Given the description of an element on the screen output the (x, y) to click on. 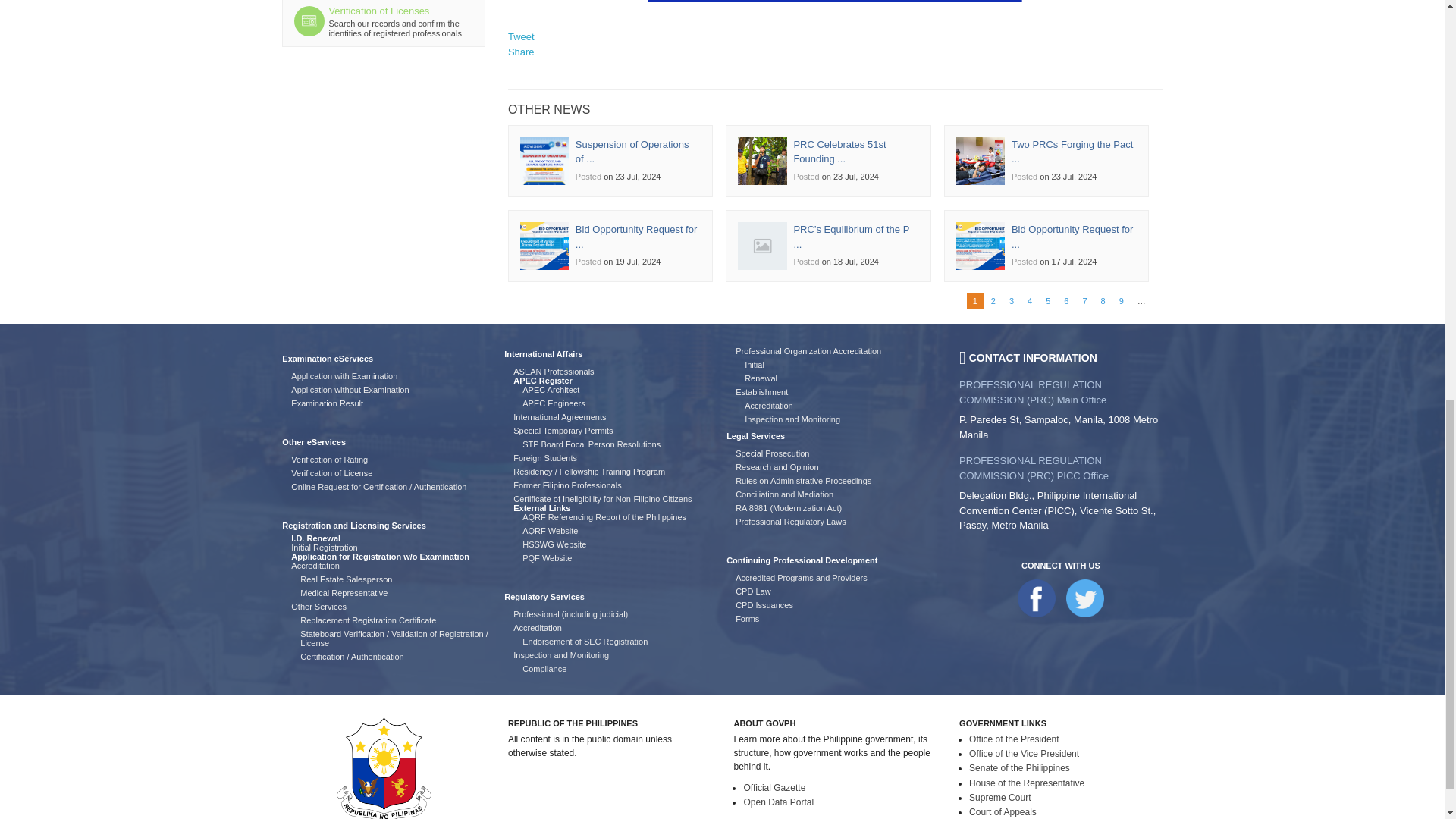
Go to page 9 (1121, 300)
Go to page 7 (1083, 300)
Go to page 6 (1066, 300)
Go to page 8 (1102, 300)
Go to page 3 (1011, 300)
Go to page 4 (1029, 300)
Go to page 5 (1047, 300)
Go to page 2 (993, 300)
